Given the description of an element on the screen output the (x, y) to click on. 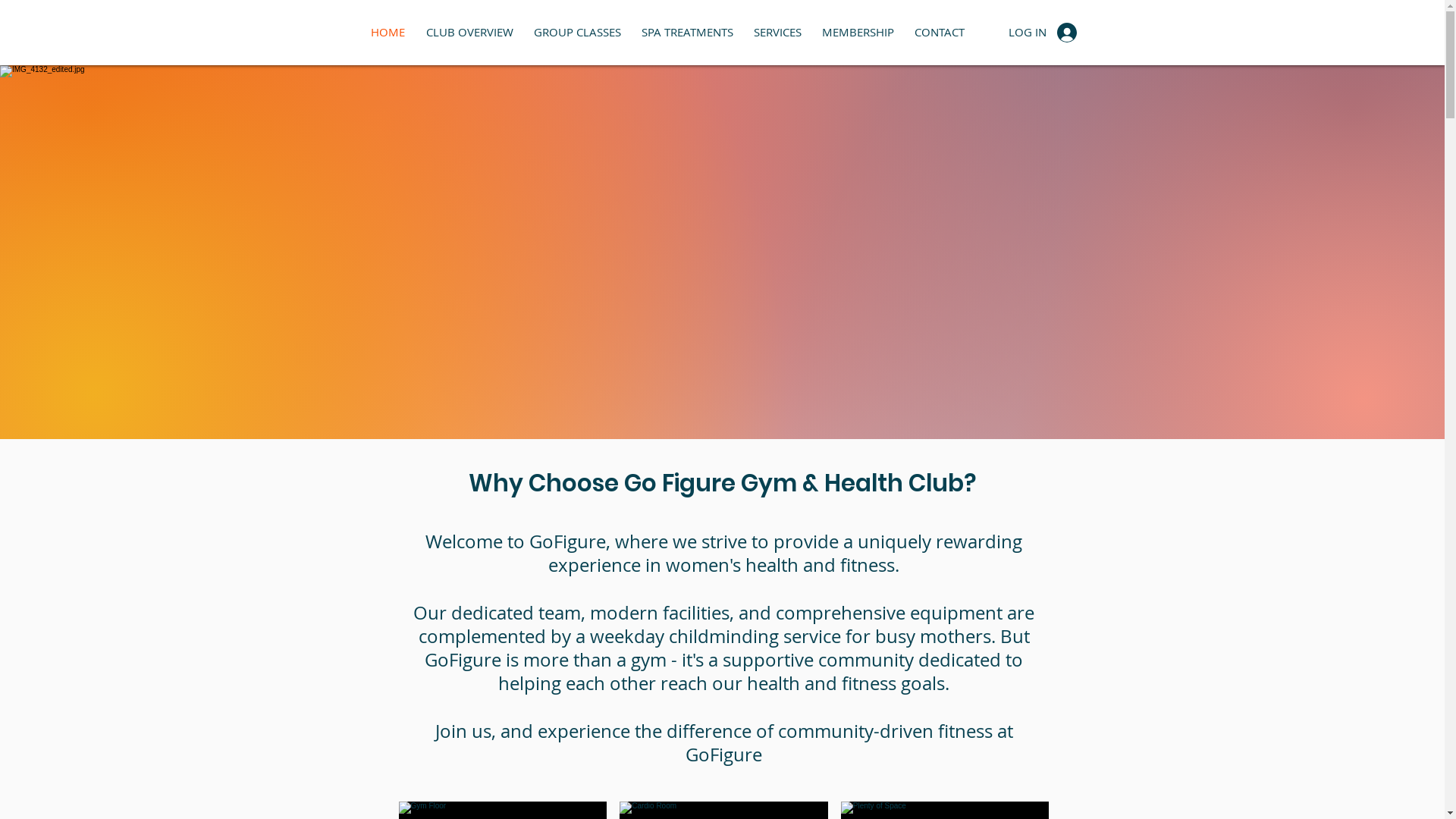
SPA TREATMENTS Element type: text (686, 31)
HOME Element type: text (386, 31)
MEMBERSHIP Element type: text (857, 31)
CONTACT Element type: text (938, 31)
LOG IN Element type: text (1042, 32)
